Given the description of an element on the screen output the (x, y) to click on. 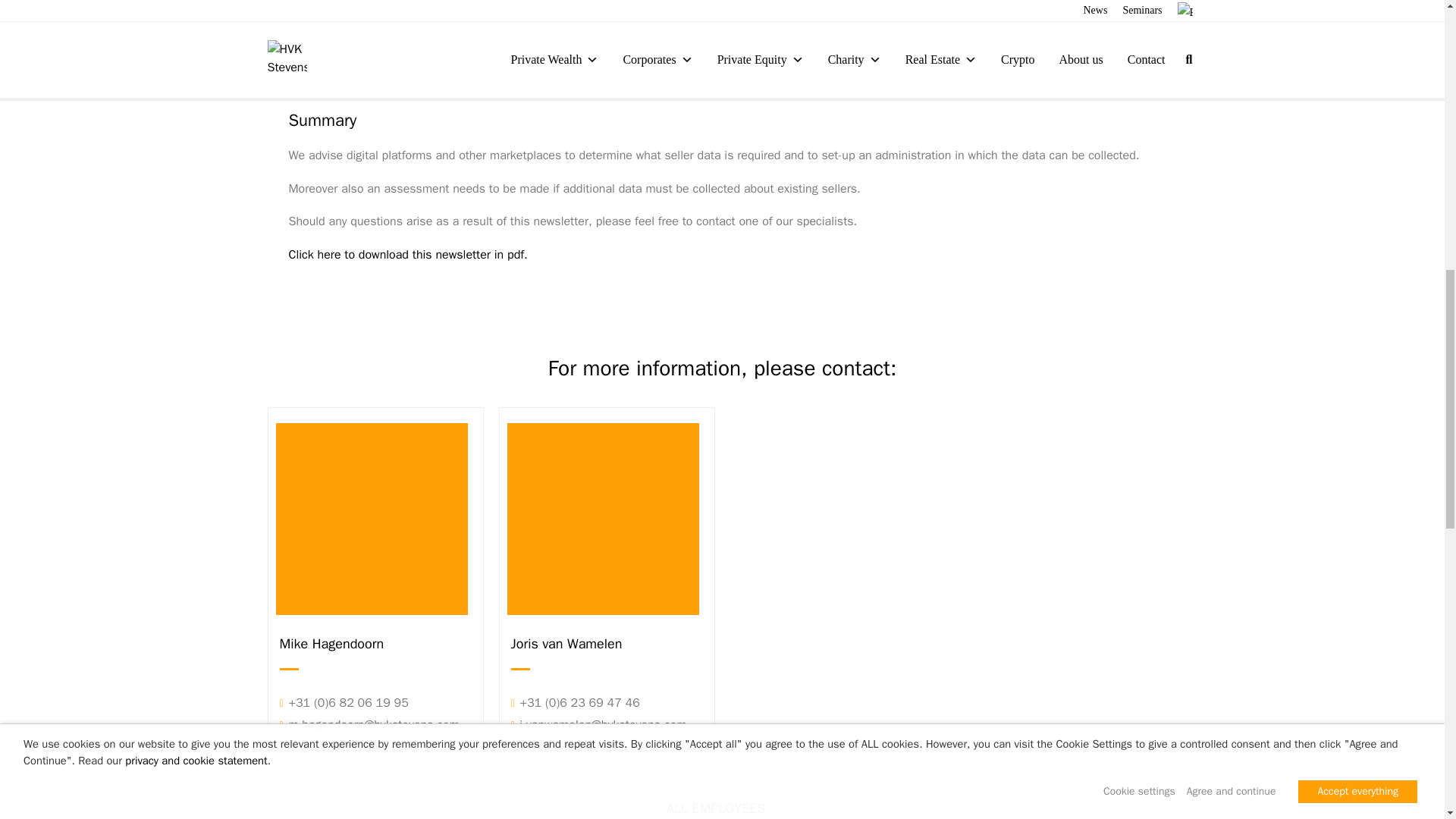
Joris van Wamelen (607, 645)
View on LinkedIn (328, 746)
Mike Hagendoorn (374, 645)
Click here to download this newsletter in pdf. (407, 254)
